Given the description of an element on the screen output the (x, y) to click on. 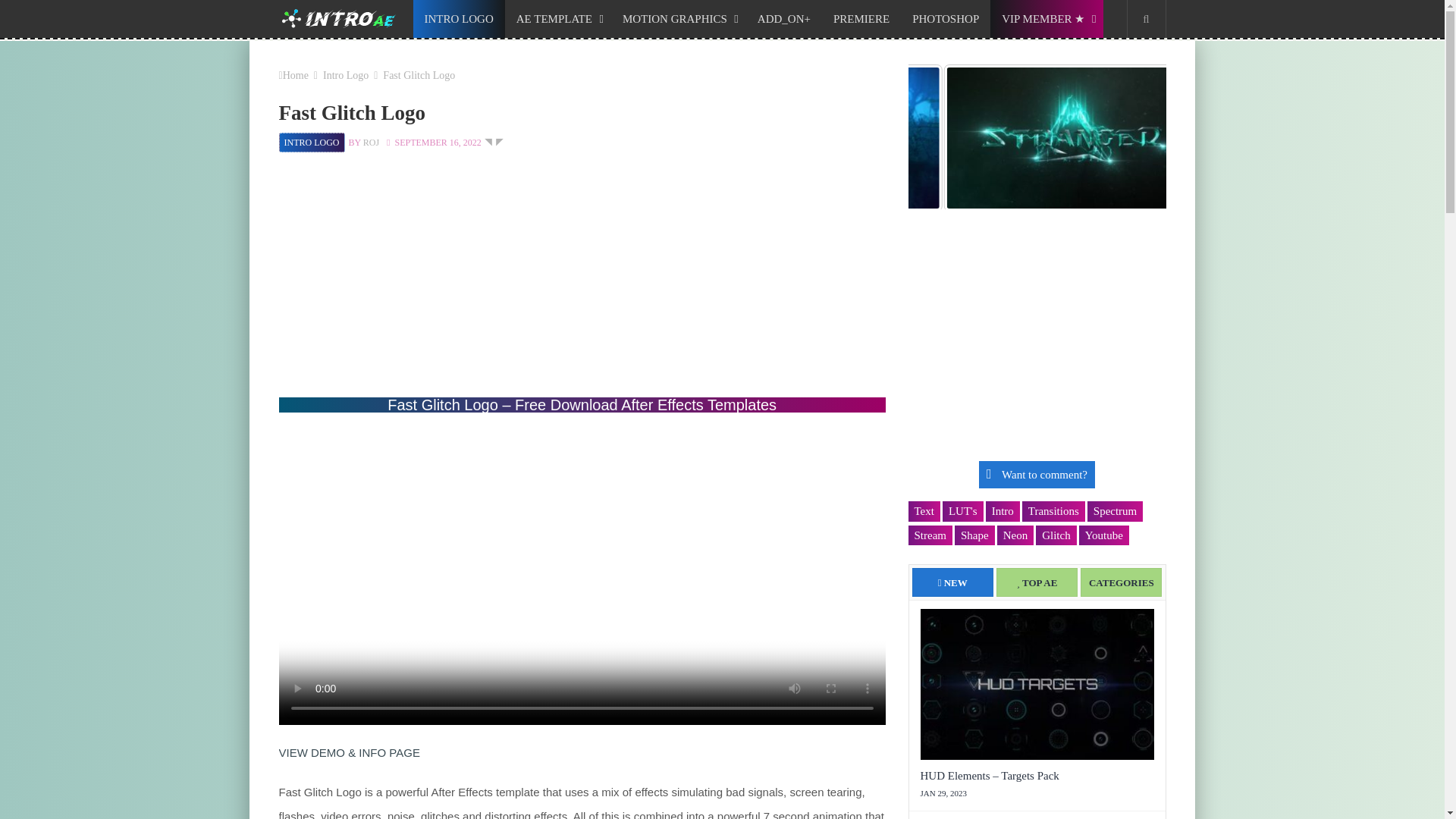
AE TEMPLATE (558, 18)
View all posts in Intro Logo (311, 142)
PHOTOSHOP (945, 18)
Logo Project (493, 142)
Posts by ROJ (370, 142)
PREMIERE (861, 18)
MOTION GRAPHICS (678, 18)
Advertisement (582, 283)
INTRO LOGO (457, 18)
